Given the description of an element on the screen output the (x, y) to click on. 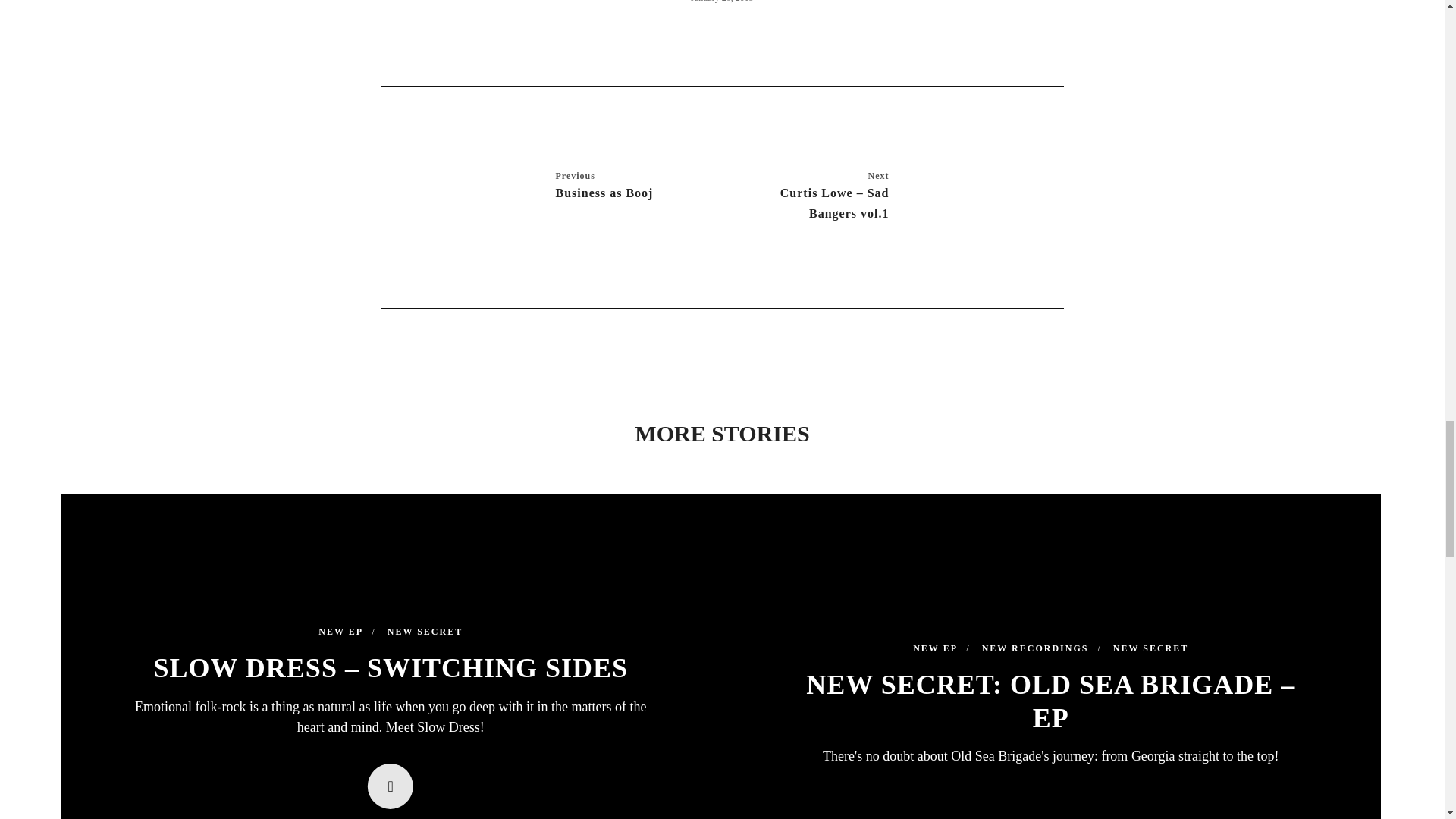
View all posts in new-recordings (1041, 648)
View all posts in new-secret (1150, 648)
View all posts in new-ep (940, 648)
View all posts in new-secret (425, 632)
View all posts in new-ep (346, 632)
